Given the description of an element on the screen output the (x, y) to click on. 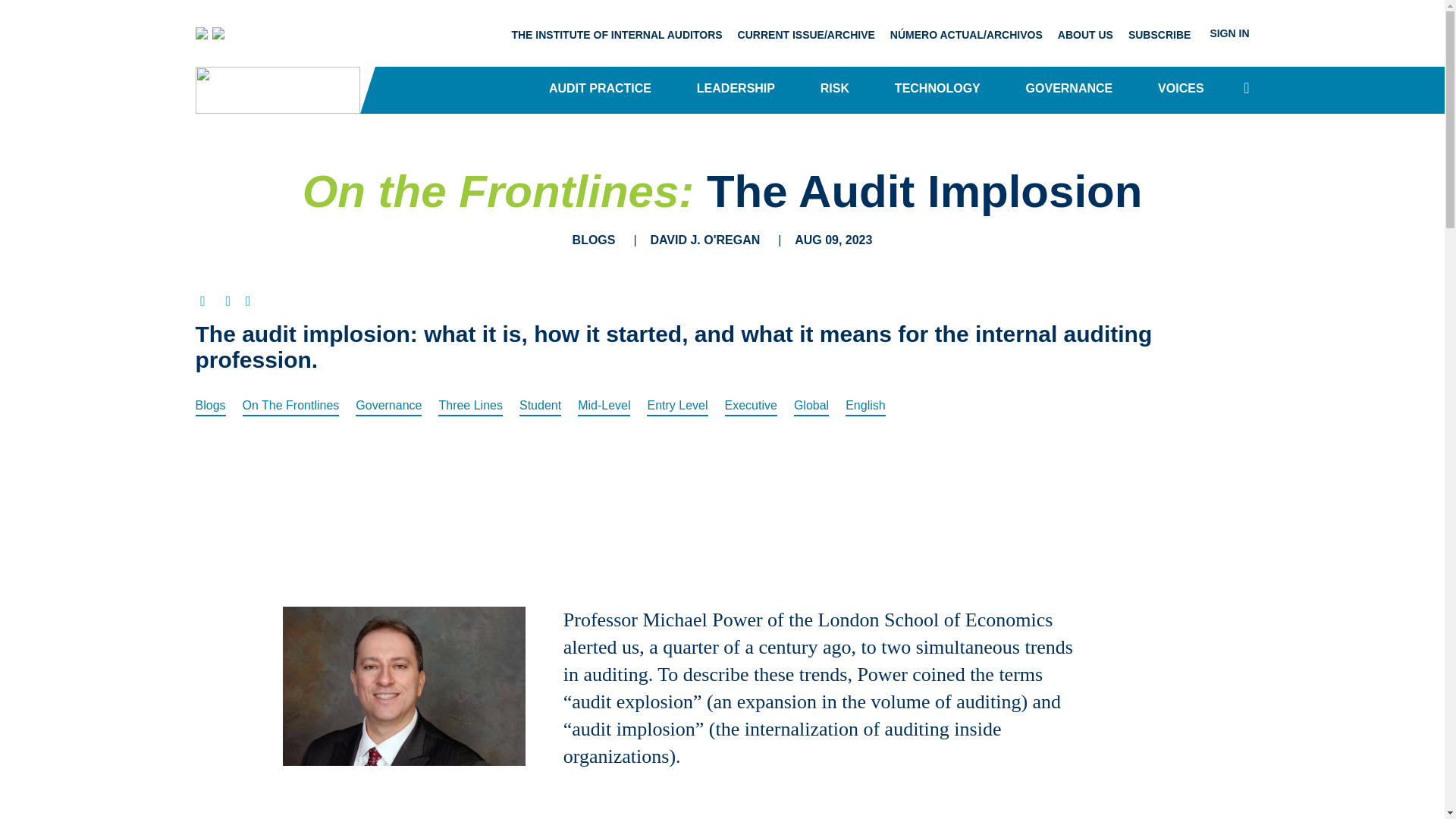
Entry Level (676, 405)
SUBSCRIBE (1159, 33)
Mid-Level (604, 405)
The IIA (210, 32)
Global (810, 405)
Subscribe (1159, 33)
GOVERNANCE (1069, 88)
Blogs (210, 405)
Three Lines (470, 405)
LEADERSHIP (735, 88)
AUDIT PRACTICE (599, 88)
SIGN IN (1223, 32)
VOICES (1180, 88)
THE INSTITUTE OF INTERNAL AUDITORS (616, 33)
TECHNOLOGY (937, 88)
